Given the description of an element on the screen output the (x, y) to click on. 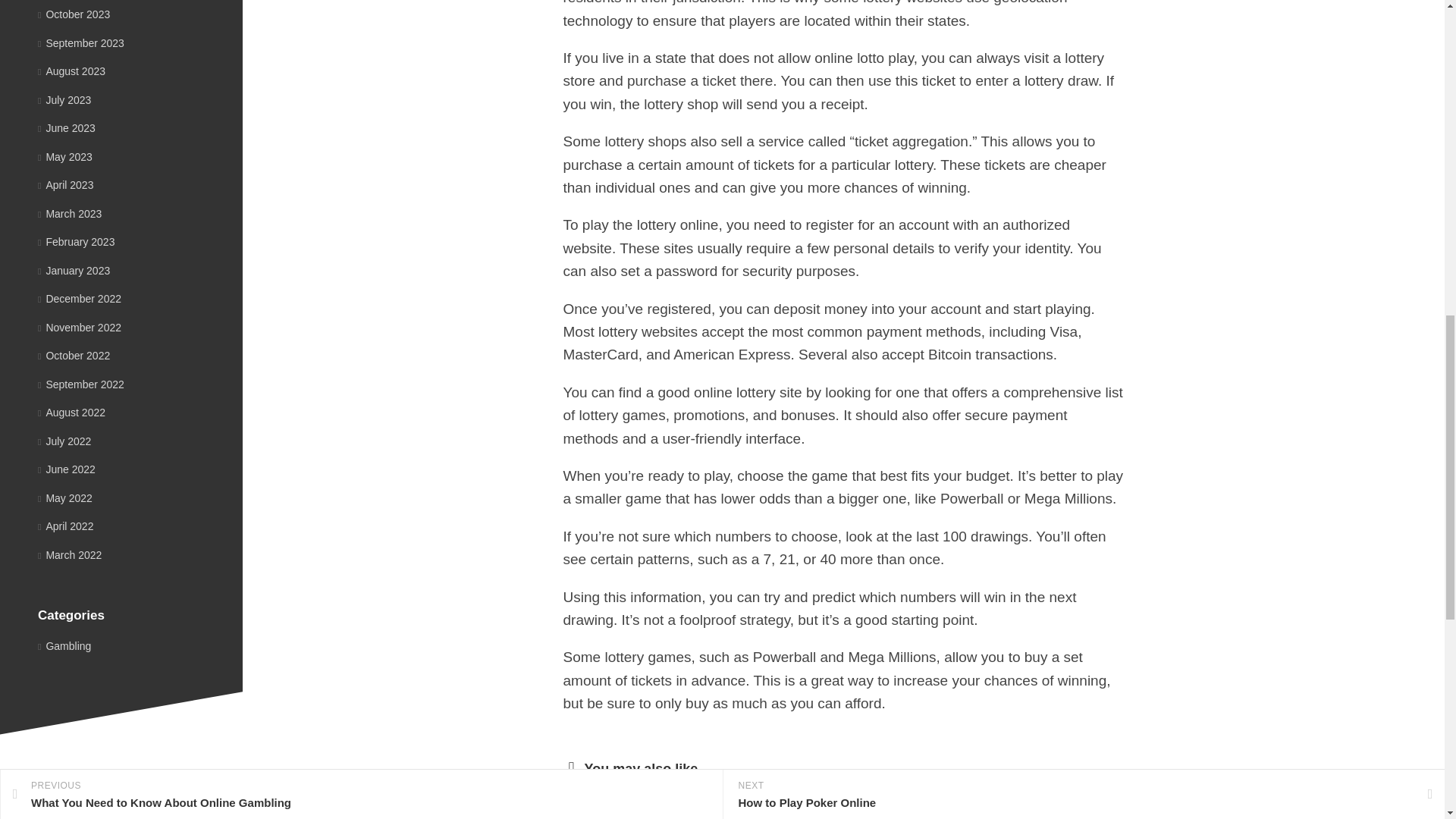
March 2023 (69, 214)
July 2023 (63, 100)
February 2023 (76, 241)
April 2023 (65, 184)
August 2023 (70, 70)
September 2023 (80, 42)
May 2023 (65, 155)
June 2023 (66, 128)
October 2023 (73, 14)
